Given the description of an element on the screen output the (x, y) to click on. 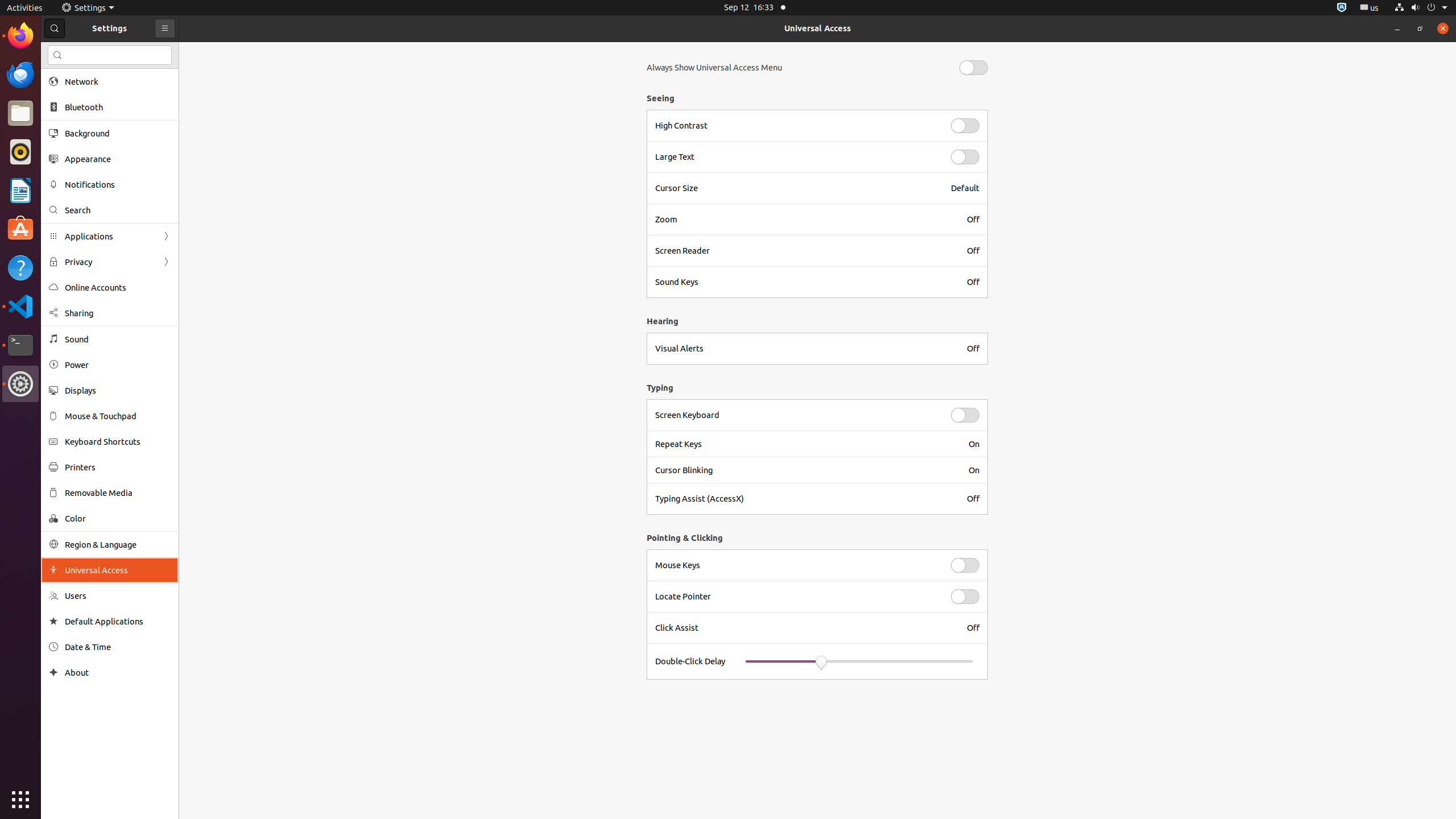
Trash Element type: label (75, 108)
Screen Keyboard Element type: label (796, 414)
Color Element type: label (117, 518)
Minimize Element type: push-button (1397, 27)
